Given the description of an element on the screen output the (x, y) to click on. 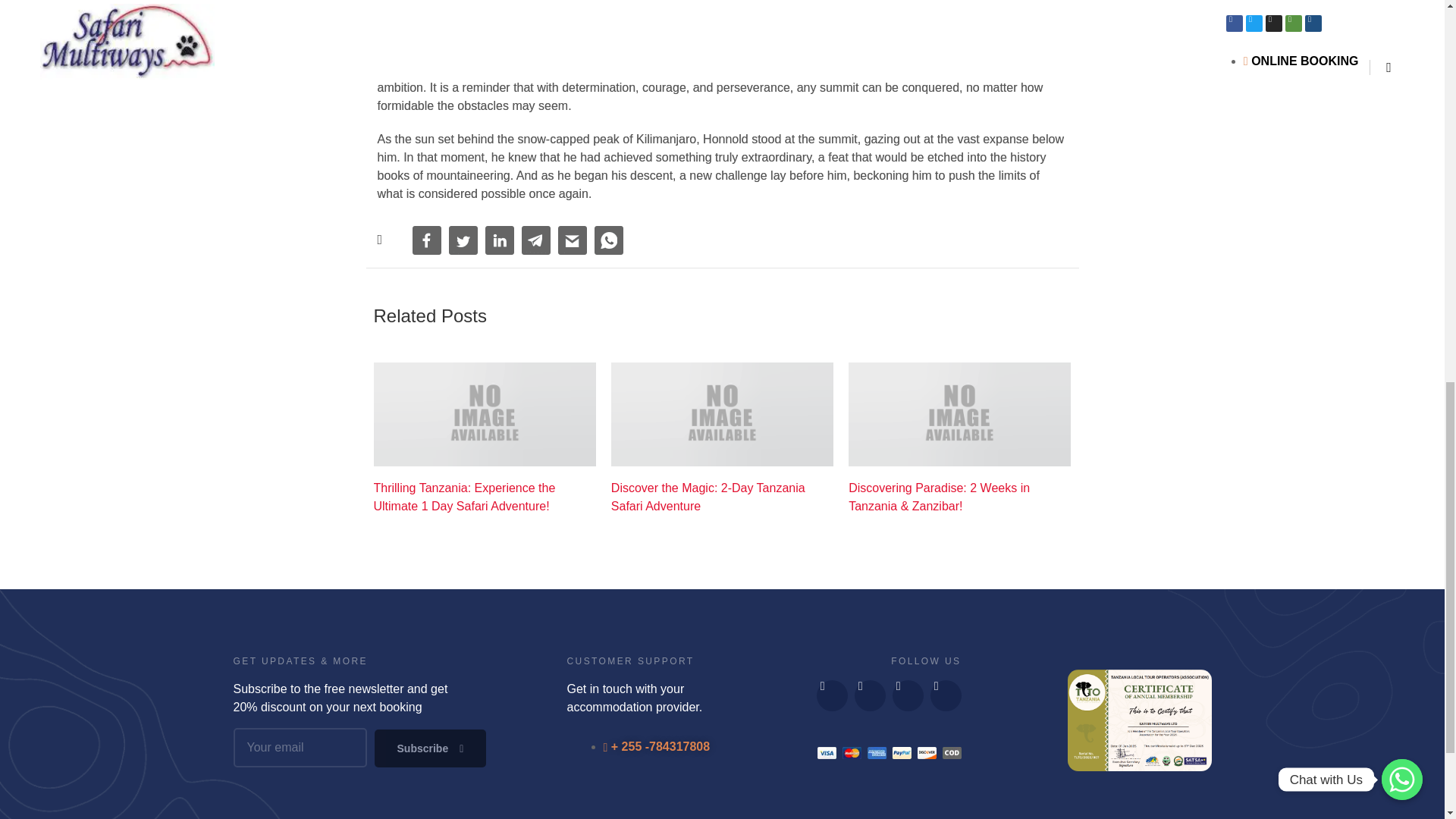
Subscribe (430, 748)
Discover the Magic: 2-Day Tanzania Safari Adventure (721, 497)
